Given the description of an element on the screen output the (x, y) to click on. 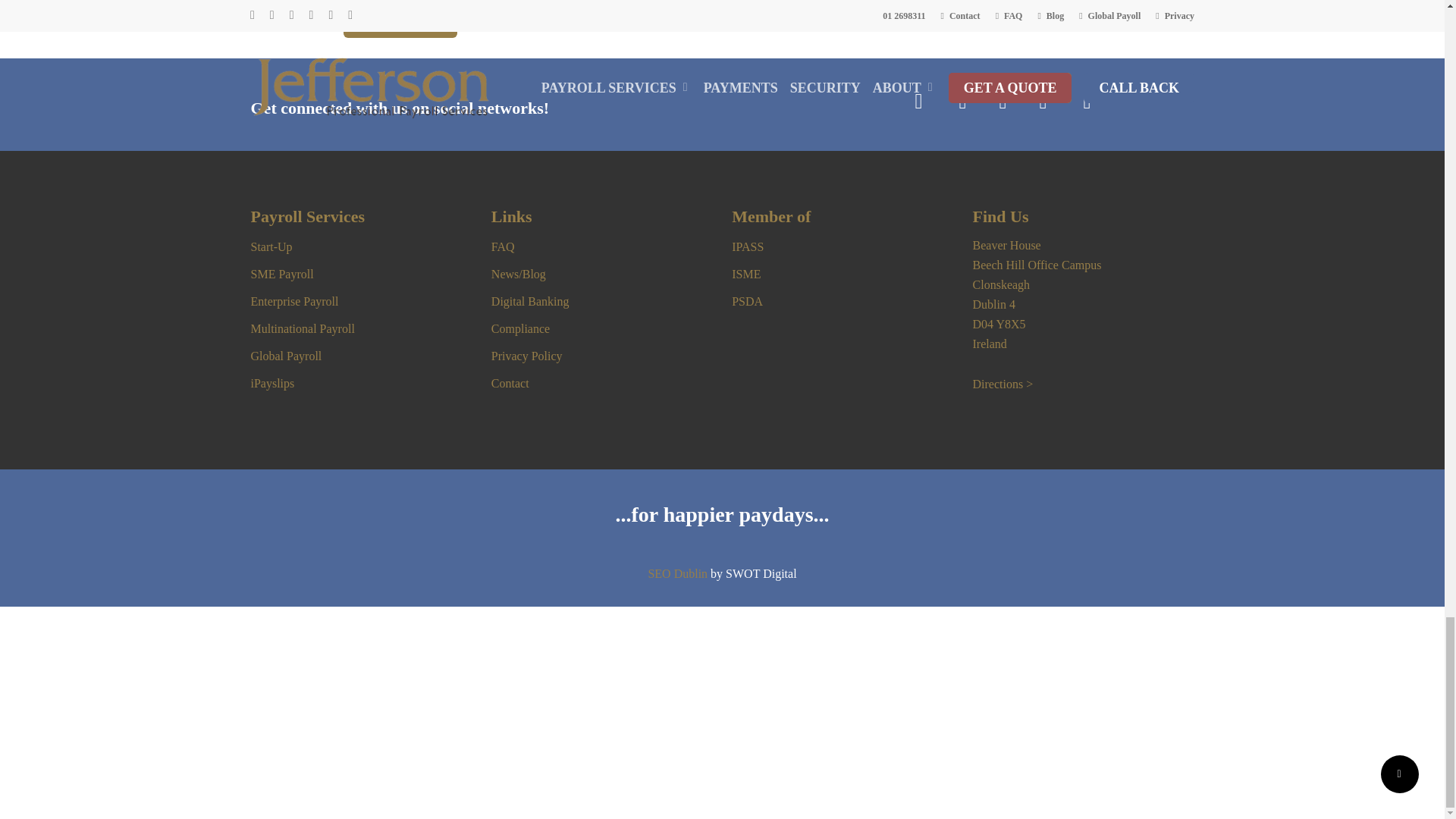
Submit Comment (399, 20)
